Given the description of an element on the screen output the (x, y) to click on. 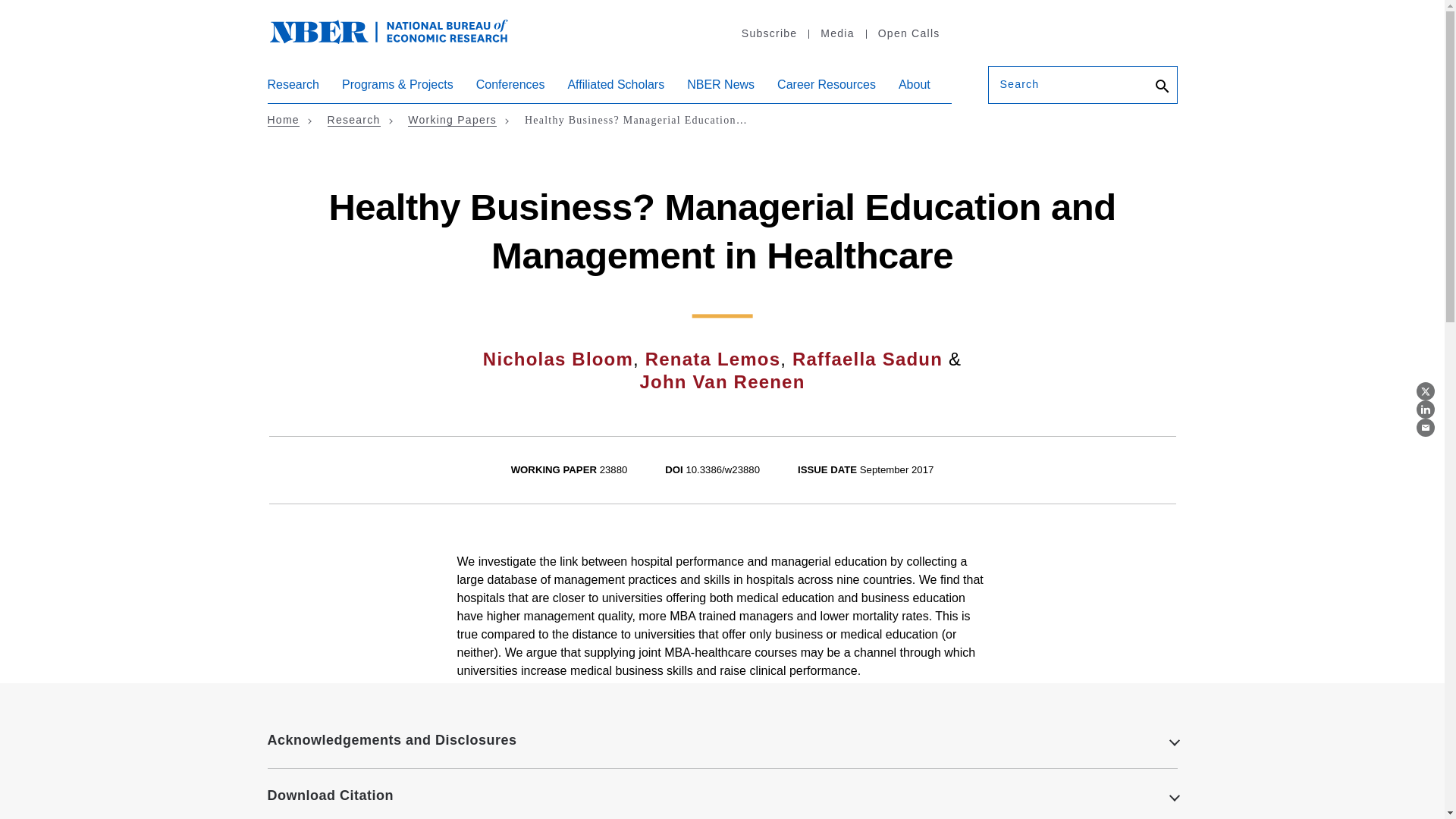
Open Calls (909, 33)
NBER: National Bureau of Economic Research (387, 31)
Twitter (1425, 391)
NBER: National Bureau of Economic Research (400, 39)
Research (292, 90)
LinkedIn (1425, 409)
Media (836, 33)
Subscribe (769, 33)
Email (1425, 427)
